Given the description of an element on the screen output the (x, y) to click on. 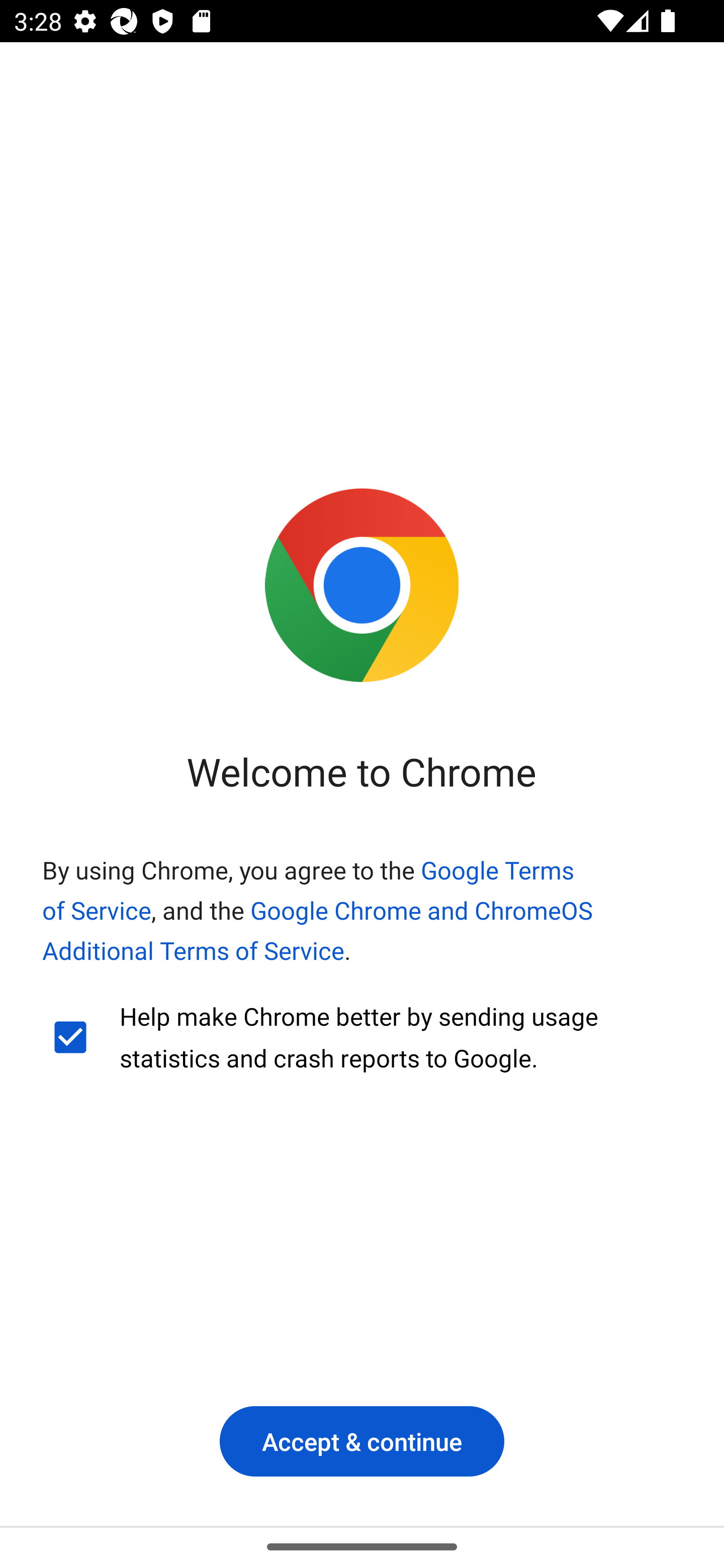
Accept & continue (361, 1440)
